Given the description of an element on the screen output the (x, y) to click on. 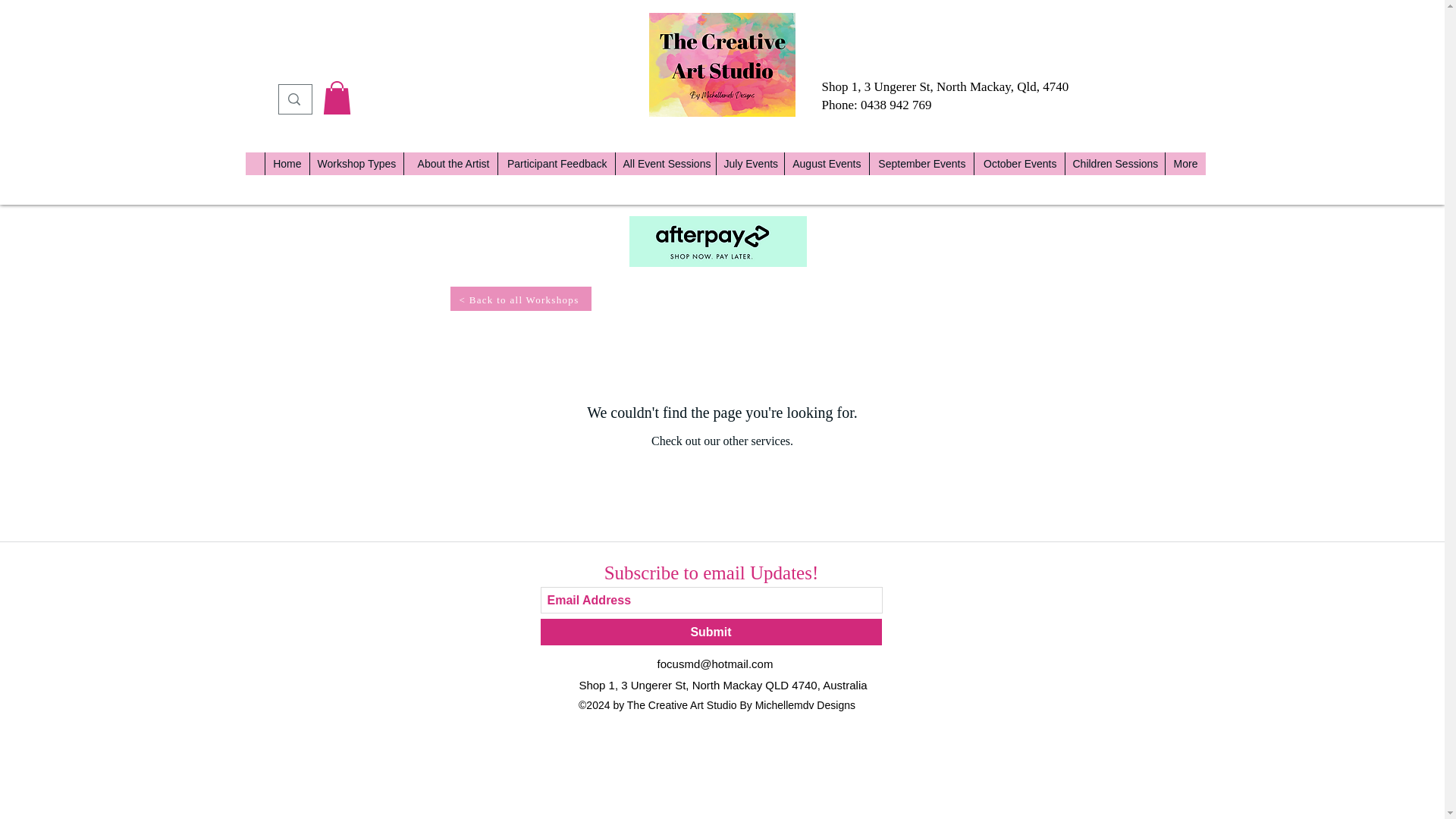
All Event Sessions (664, 163)
Children Sessions (1114, 163)
October Events (1019, 163)
Participant Feedback (555, 163)
About the Artist (450, 163)
Home (285, 163)
Workshop Types (355, 163)
September Events (921, 163)
August Events (826, 163)
Submit (710, 632)
July Events (750, 163)
